Given the description of an element on the screen output the (x, y) to click on. 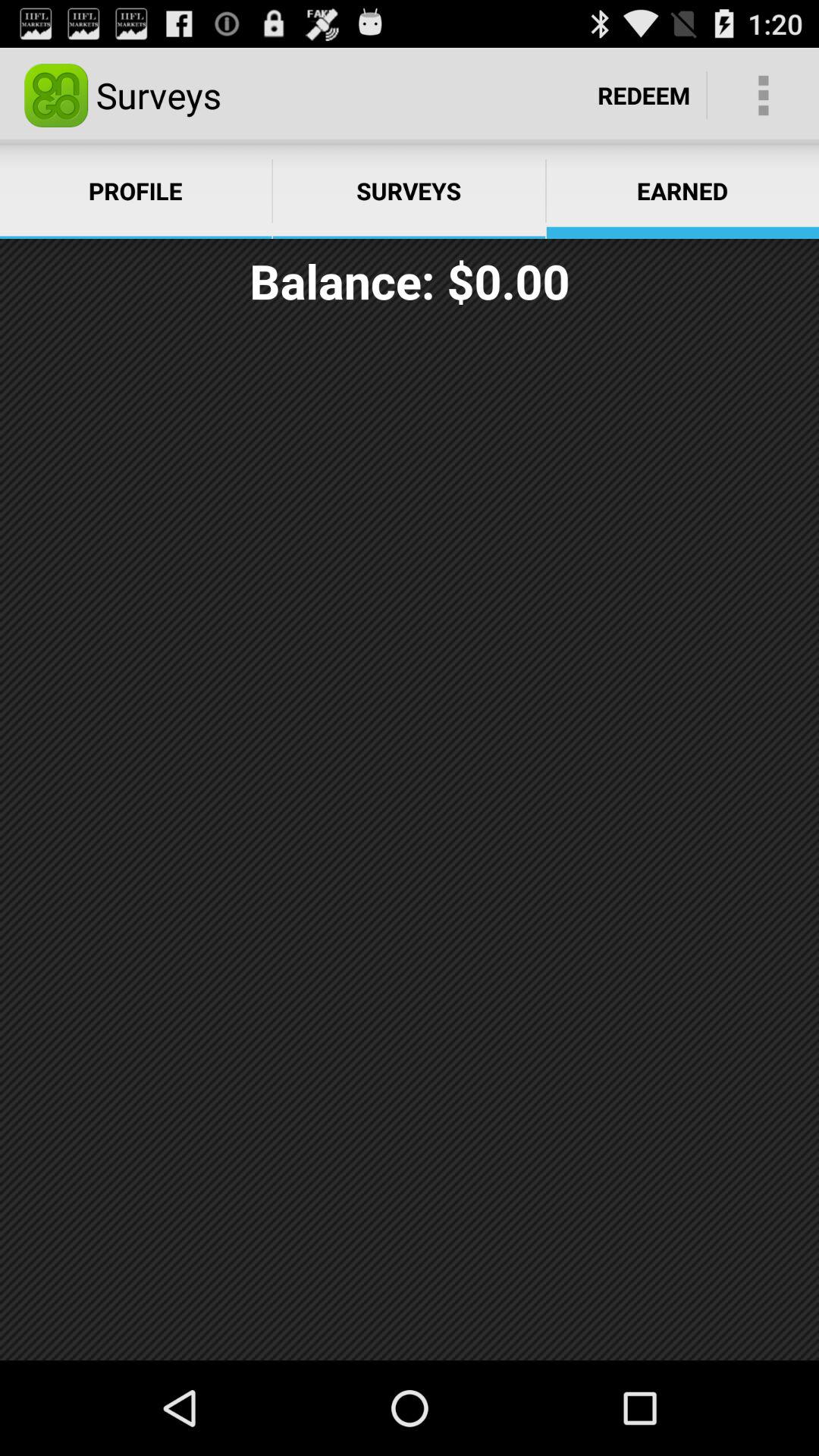
open icon next to the surveys icon (643, 95)
